Given the description of an element on the screen output the (x, y) to click on. 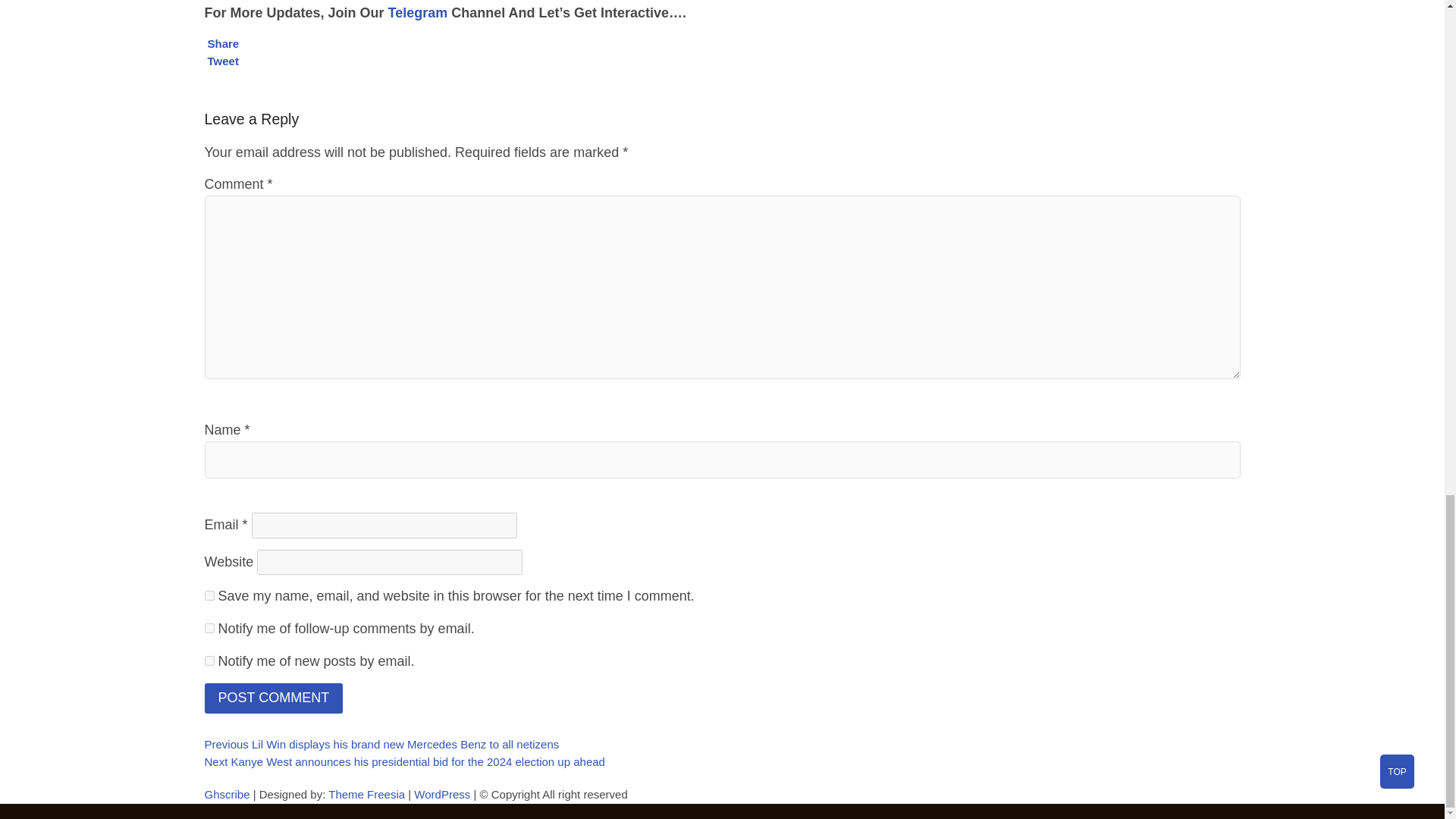
Theme Freesia (366, 793)
subscribe (209, 628)
WordPress (441, 793)
WordPress (441, 793)
Telegram (418, 12)
Post Comment (274, 698)
Post Comment (274, 698)
yes (209, 595)
